Given the description of an element on the screen output the (x, y) to click on. 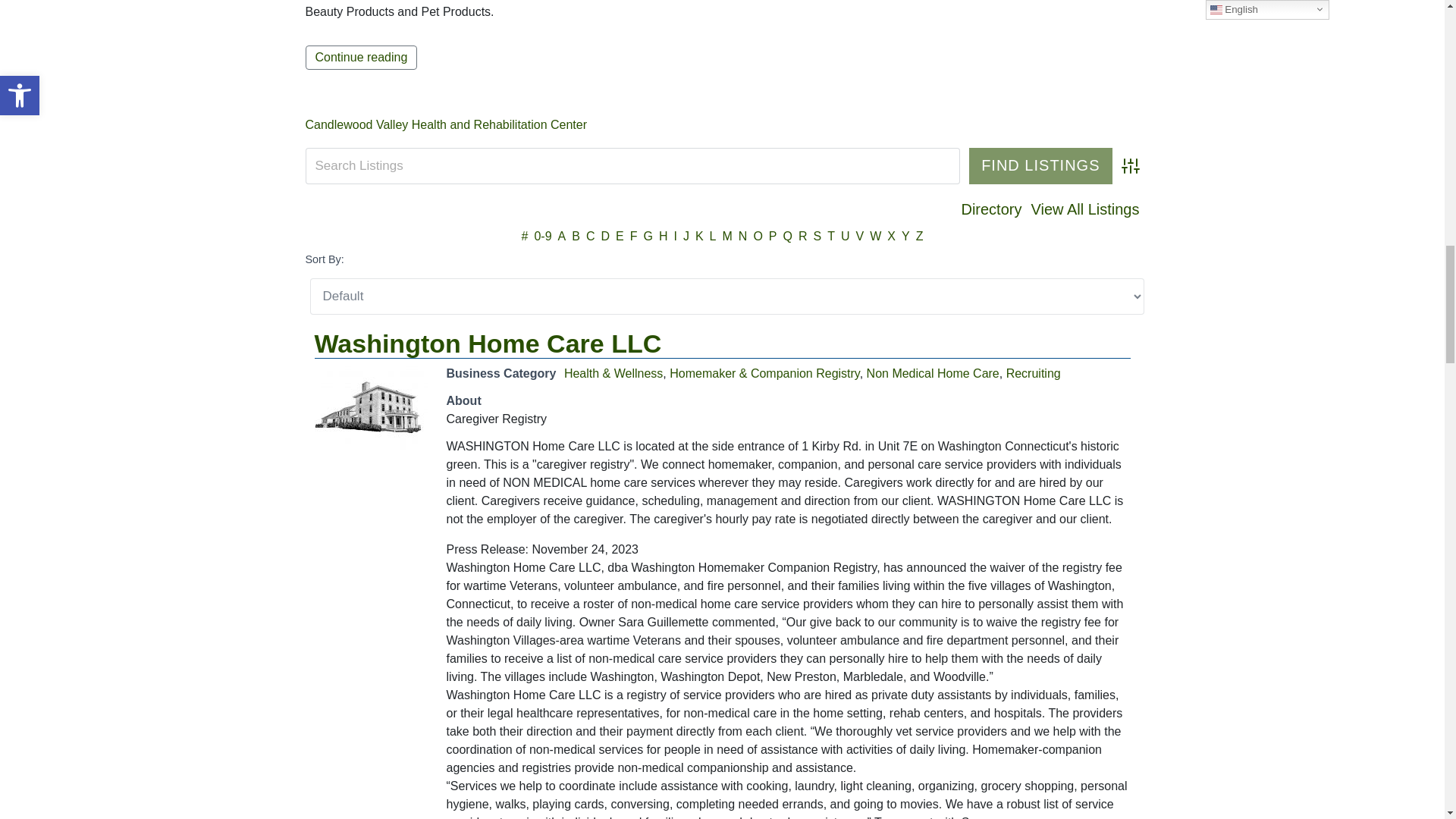
Find Listings (1040, 166)
1 Kirby Road, Unit 7E, Washington CT (371, 408)
Candlewood Valley Health and Rehabilitation Center (445, 124)
1 Kirby Road, Unit 7E, Washington CT (371, 408)
Quick search keywords (631, 166)
